Given the description of an element on the screen output the (x, y) to click on. 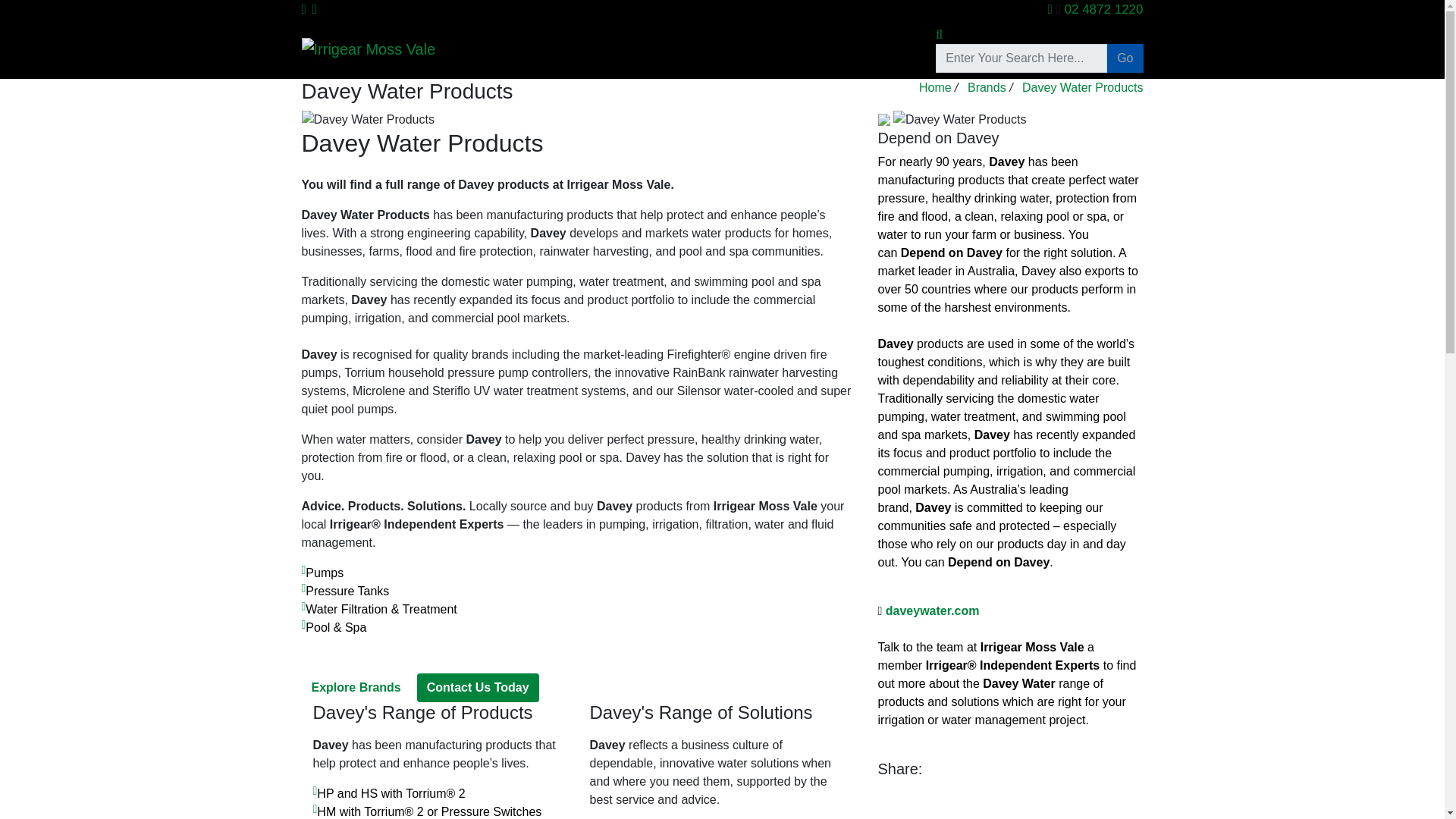
Services (697, 48)
Go (1039, 58)
Brands (987, 87)
Home (589, 48)
Services (697, 48)
About (639, 48)
About (639, 48)
Contact Us (896, 48)
Home (935, 87)
Brands (828, 48)
Solutions (764, 48)
Explore Brands (355, 687)
Contact Us Today (477, 687)
daveywater.com (932, 610)
02 4872 1220 (1103, 9)
